Given the description of an element on the screen output the (x, y) to click on. 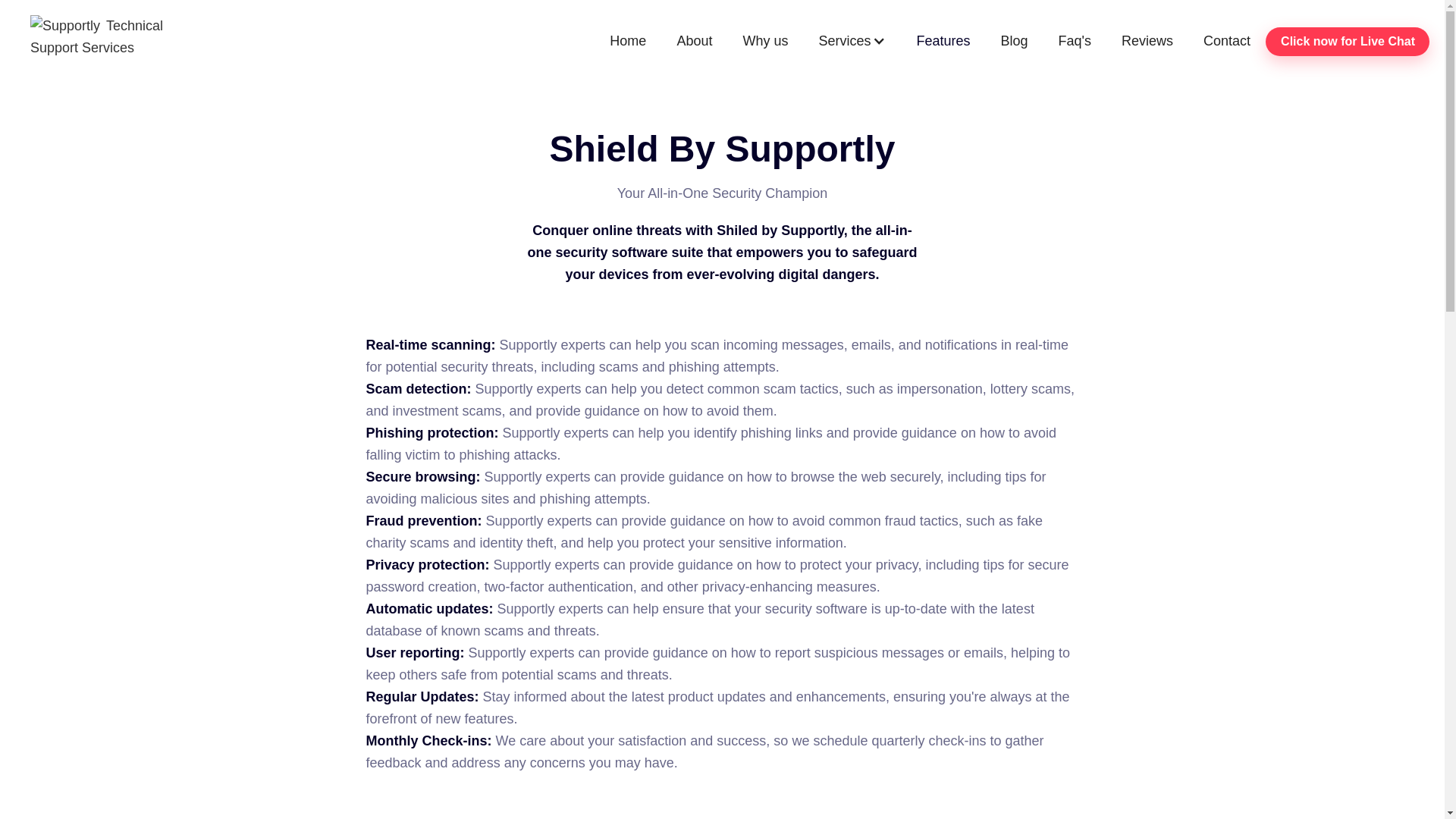
Features (943, 41)
Click now for Live Chat (1347, 41)
About (693, 41)
Home (627, 41)
Contact (1226, 41)
Why us (764, 41)
Faq's (1074, 41)
Reviews (1147, 41)
Blog (1014, 41)
